Given the description of an element on the screen output the (x, y) to click on. 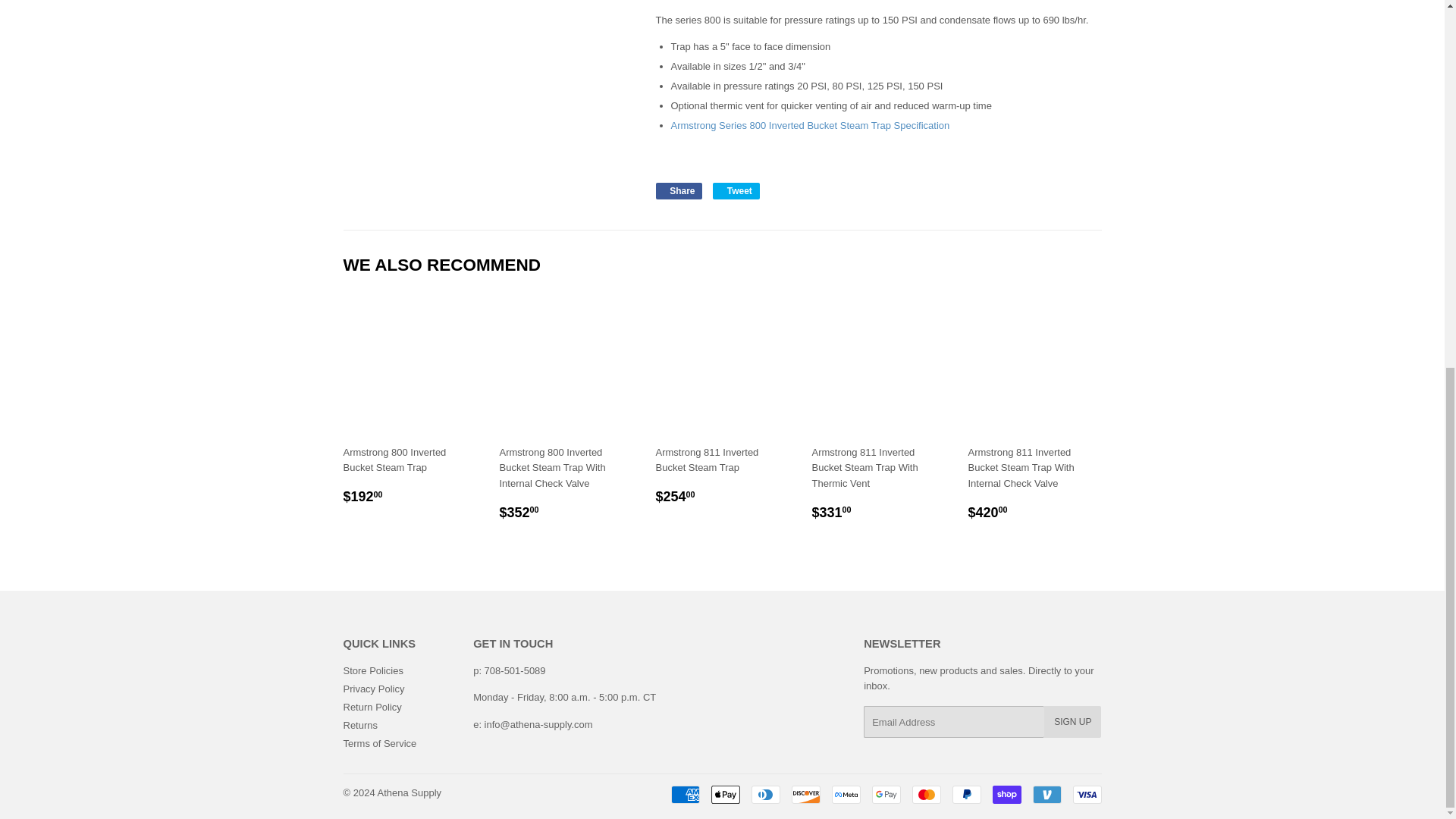
Share on Facebook (678, 190)
PayPal (966, 794)
American Express (683, 794)
Visa (1085, 794)
Mastercard (925, 794)
Diners Club (764, 794)
Venmo (1046, 794)
Tweet on Twitter (736, 190)
Meta Pay (845, 794)
